Given the description of an element on the screen output the (x, y) to click on. 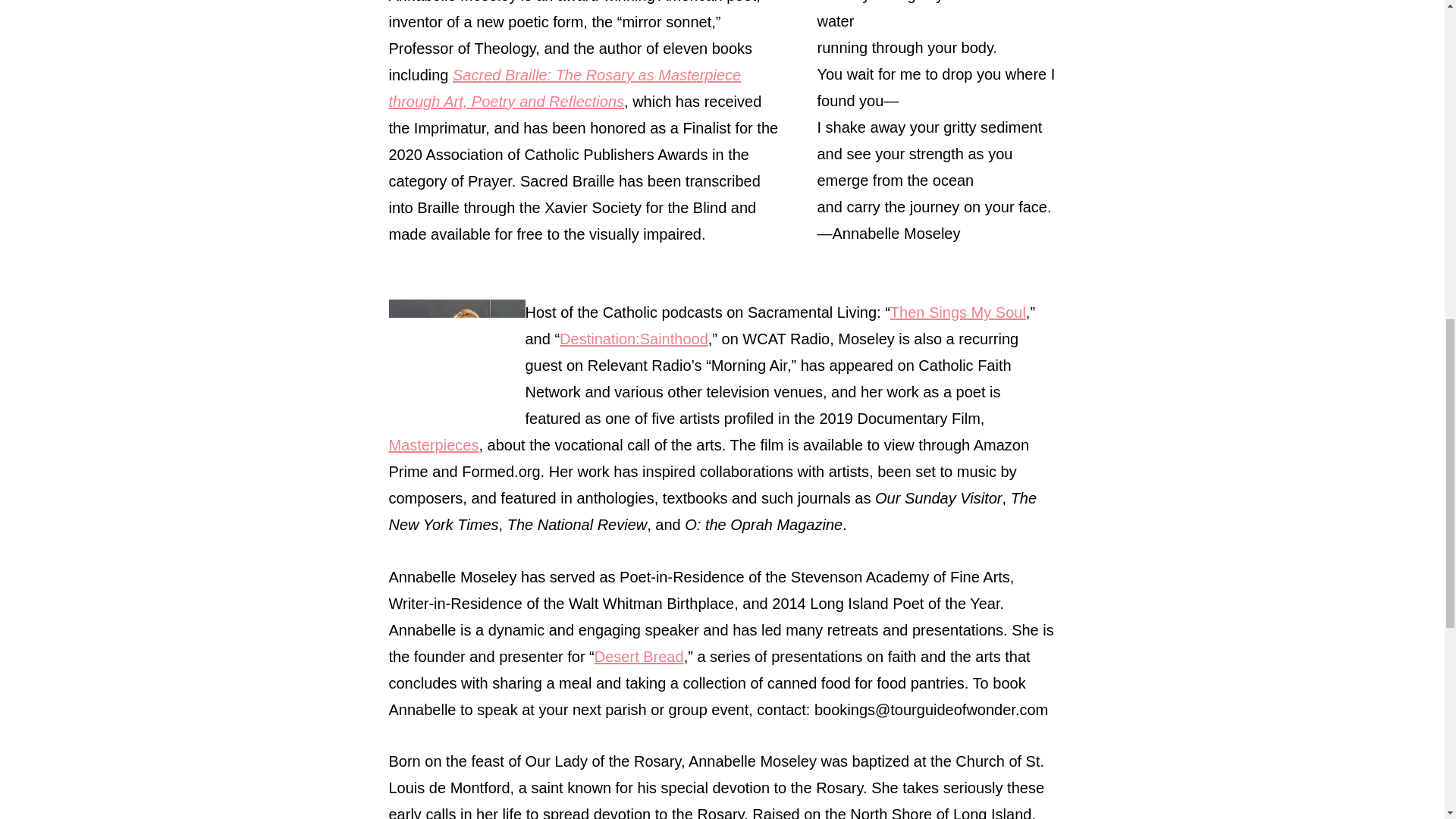
Destination:Sainthood (633, 338)
Masterpieces (433, 444)
Then Sings My Soul (957, 312)
Desert Bread (639, 656)
